Given the description of an element on the screen output the (x, y) to click on. 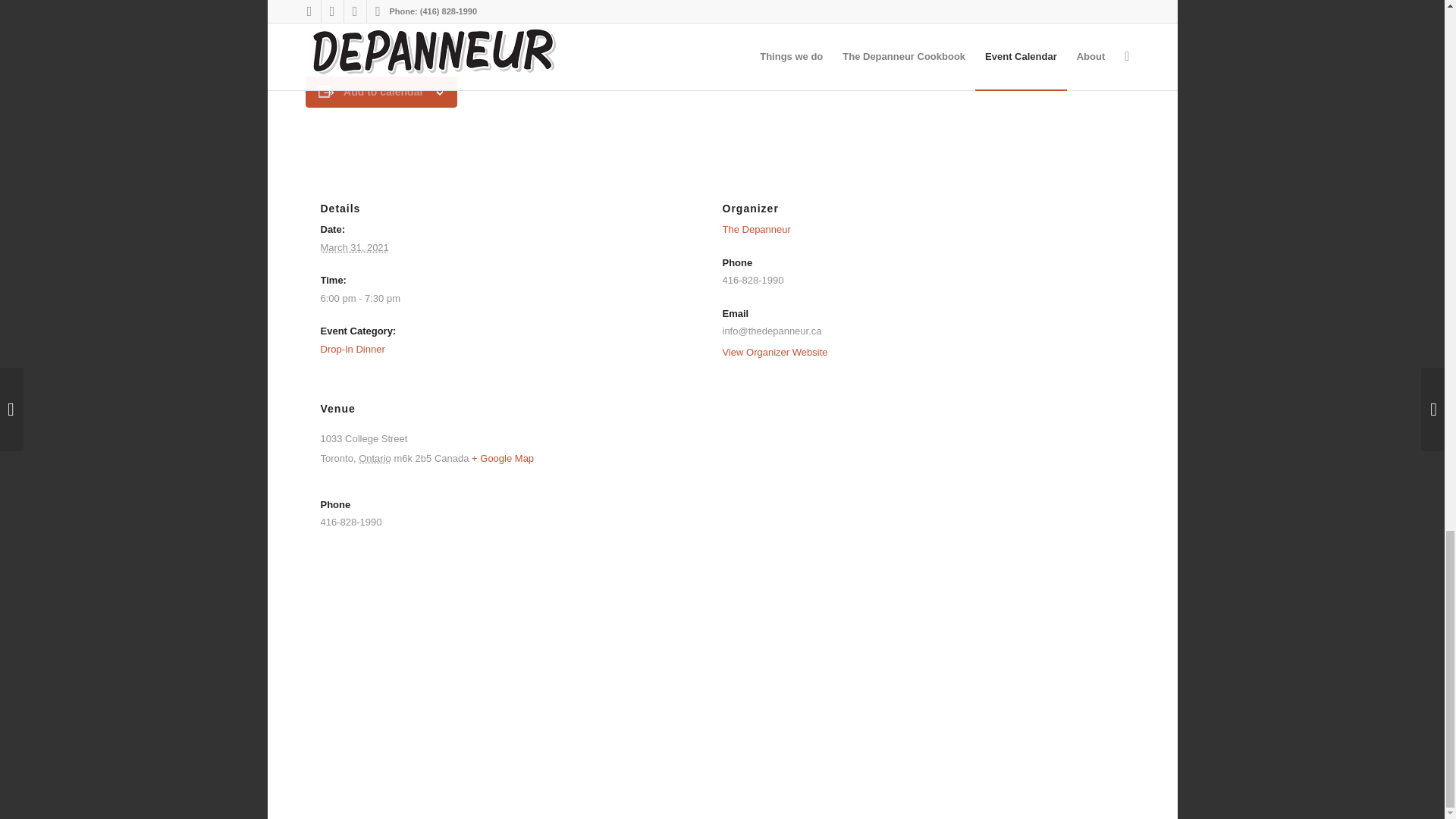
nainainoodles.com (500, 10)
2021-03-31 (354, 247)
View Organizer Website (774, 351)
Add to calendar (383, 91)
Drop-In Dinner (352, 348)
Click to view a Google Map (502, 458)
2021-03-31 (505, 298)
The Depanneur (756, 229)
The Depanneur (756, 229)
